Given the description of an element on the screen output the (x, y) to click on. 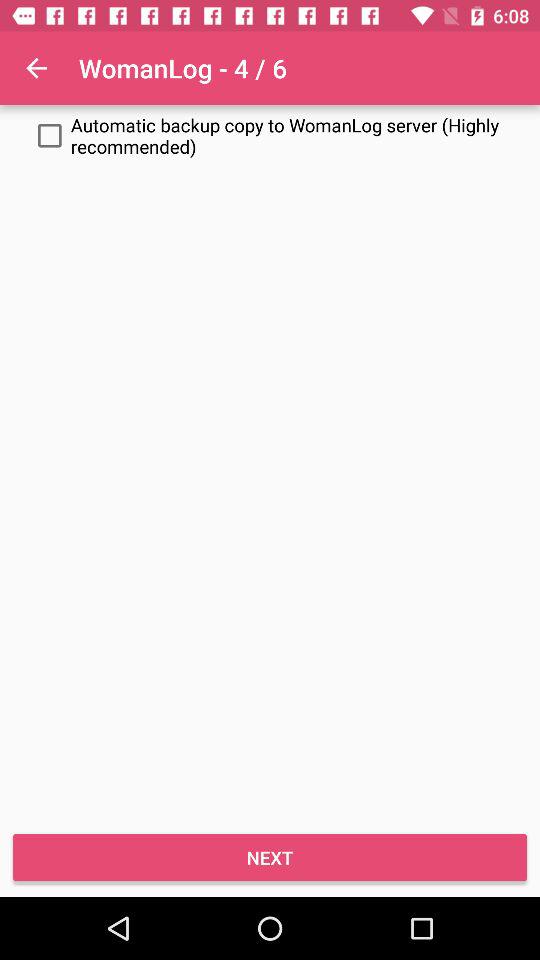
click the item at the top left corner (36, 68)
